Given the description of an element on the screen output the (x, y) to click on. 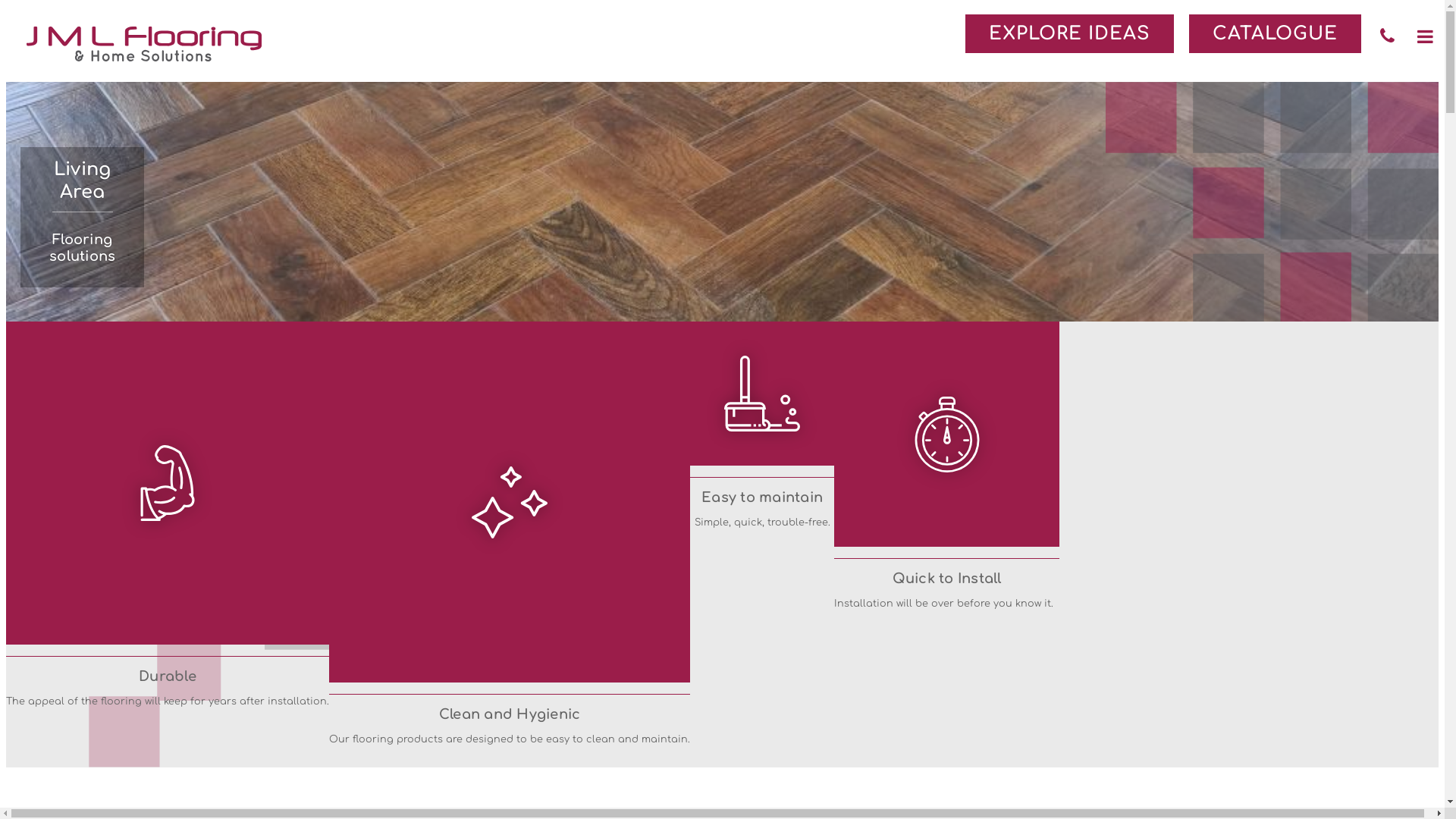
Skip to content Element type: text (29, 371)
Telephone Number:0437 004 690 Element type: text (1387, 36)
EXPLORE IDEAS Element type: text (1069, 33)
CATALOGUE Element type: text (1275, 33)
Toggle navigation Element type: text (1424, 37)
